Given the description of an element on the screen output the (x, y) to click on. 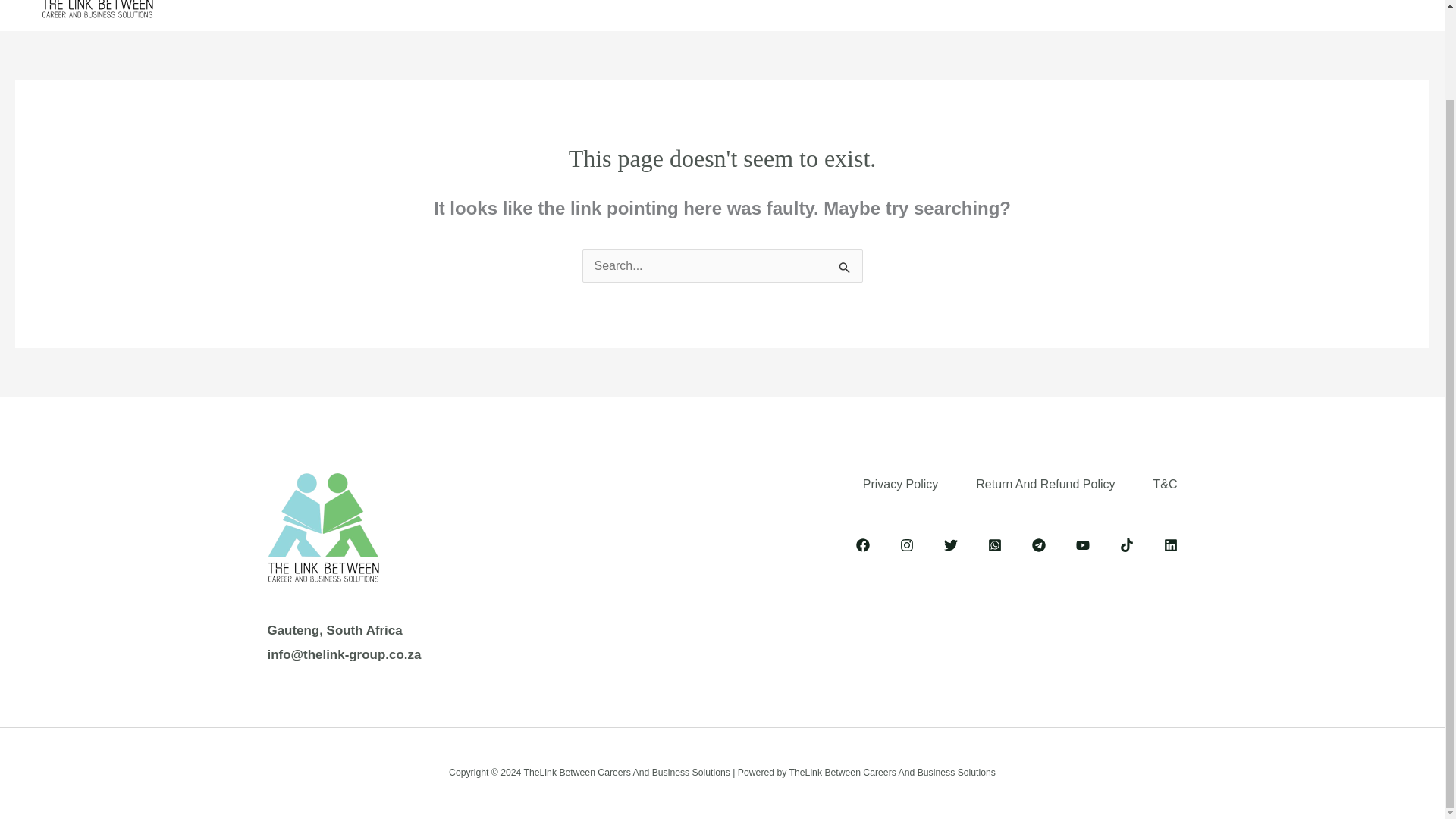
SHOP (917, 4)
ABOUT (511, 4)
HOME (439, 4)
PORTFOLIO (833, 4)
CONTACT (996, 4)
SERVICES (601, 4)
